Given the description of an element on the screen output the (x, y) to click on. 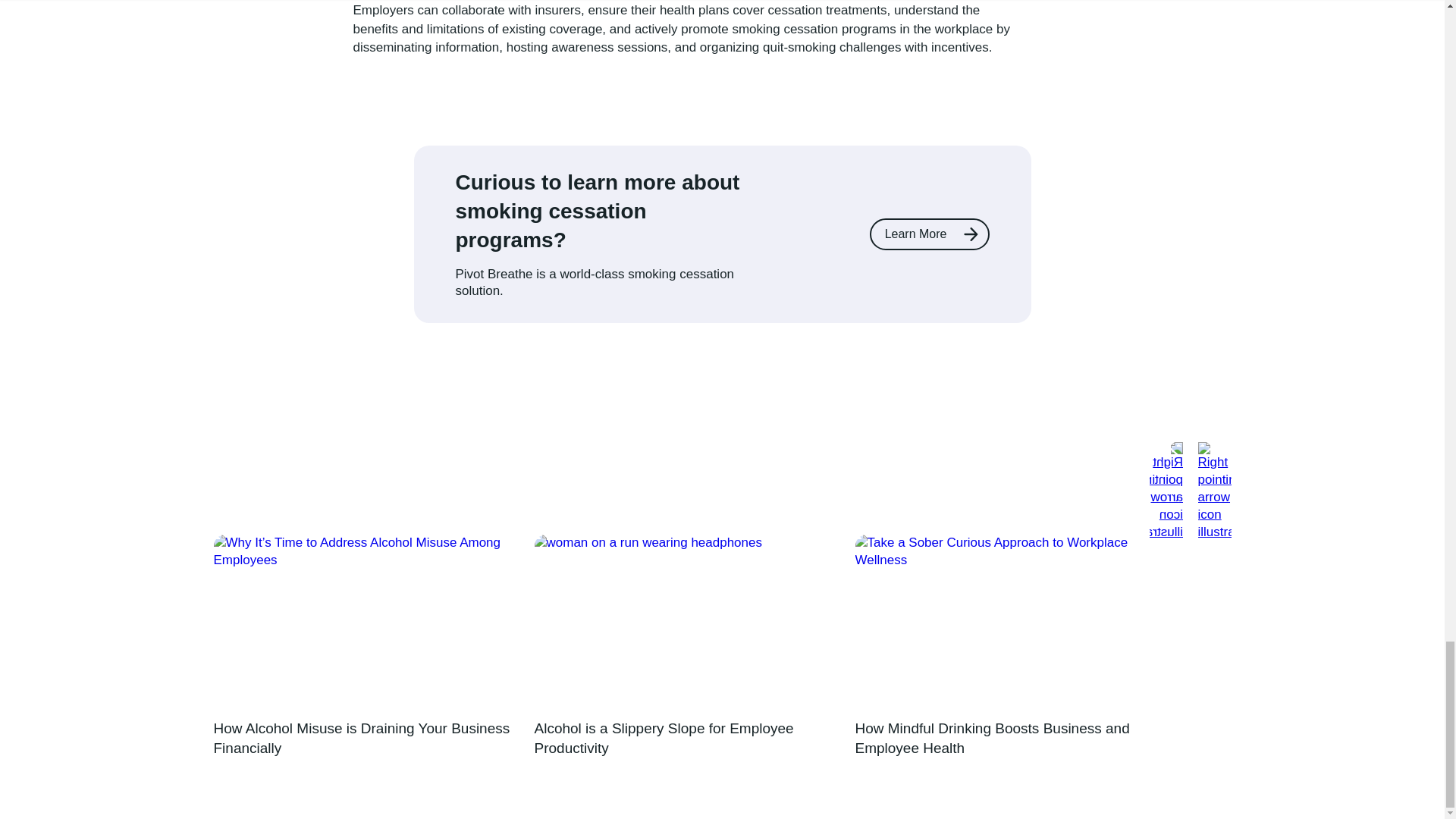
Learn More (929, 234)
